Given the description of an element on the screen output the (x, y) to click on. 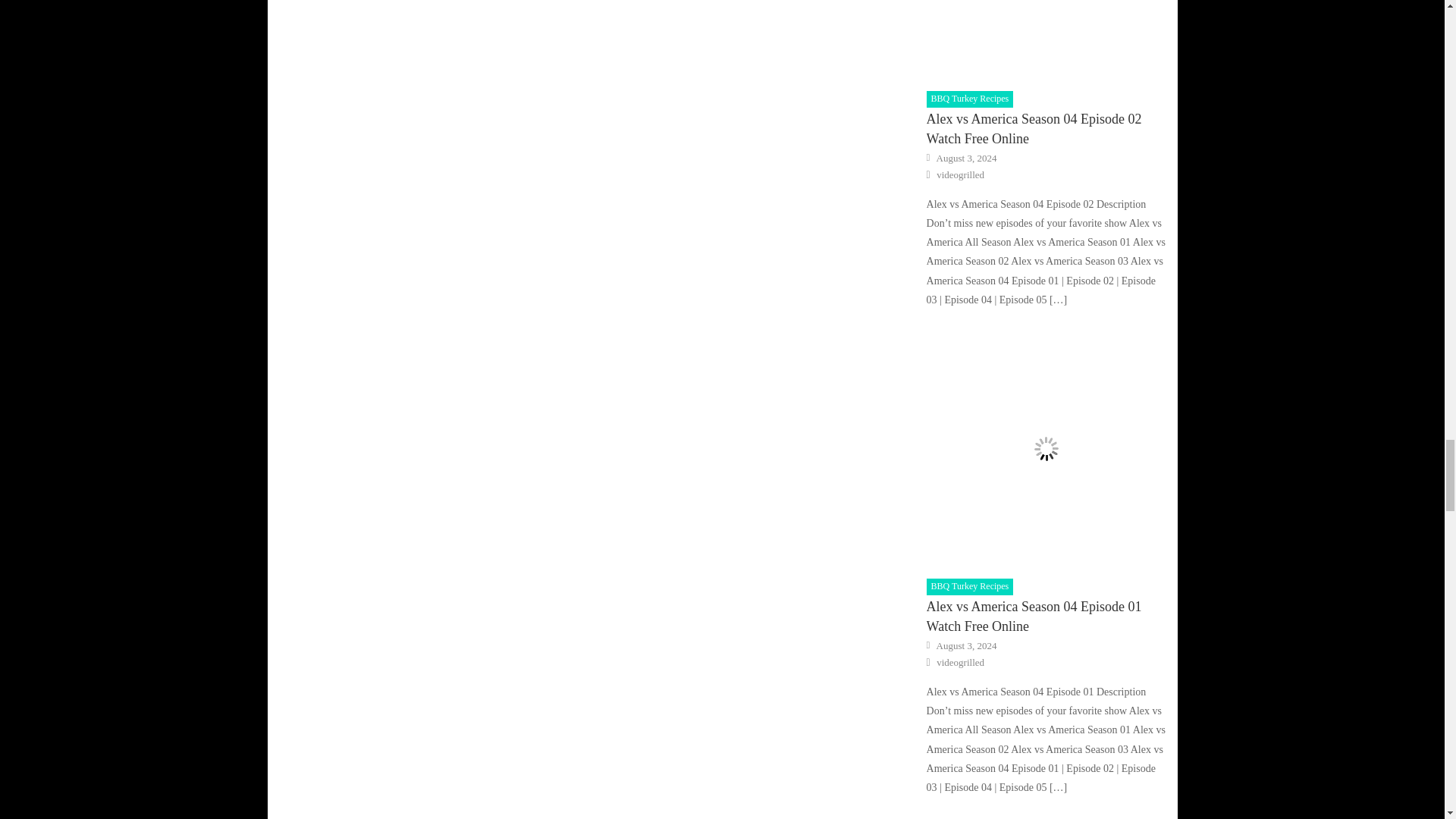
Alex vs America Season 04 Episode 02 Watch Free Online (1046, 40)
Alex vs America Season 04 Episode 01 Watch Free Online (1046, 448)
